Given the description of an element on the screen output the (x, y) to click on. 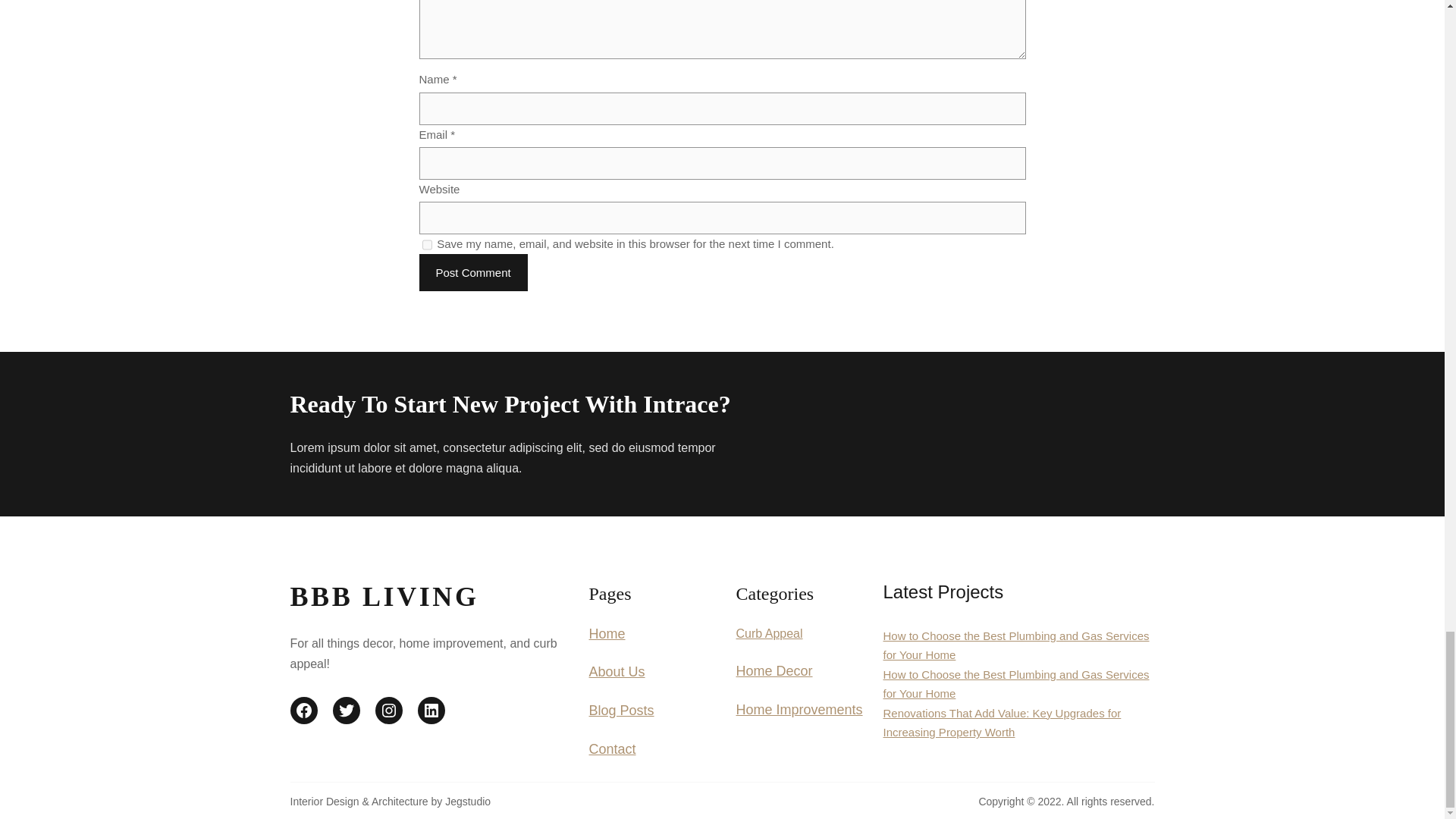
LinkedIn (430, 709)
Home (606, 633)
Home Decor (773, 670)
Curb Appeal (768, 633)
Post Comment (473, 272)
Blog Posts (620, 710)
About Us (616, 671)
Post Comment (473, 272)
Twitter (345, 709)
Home Improvements (798, 709)
Contact (611, 749)
Facebook (303, 709)
